Given the description of an element on the screen output the (x, y) to click on. 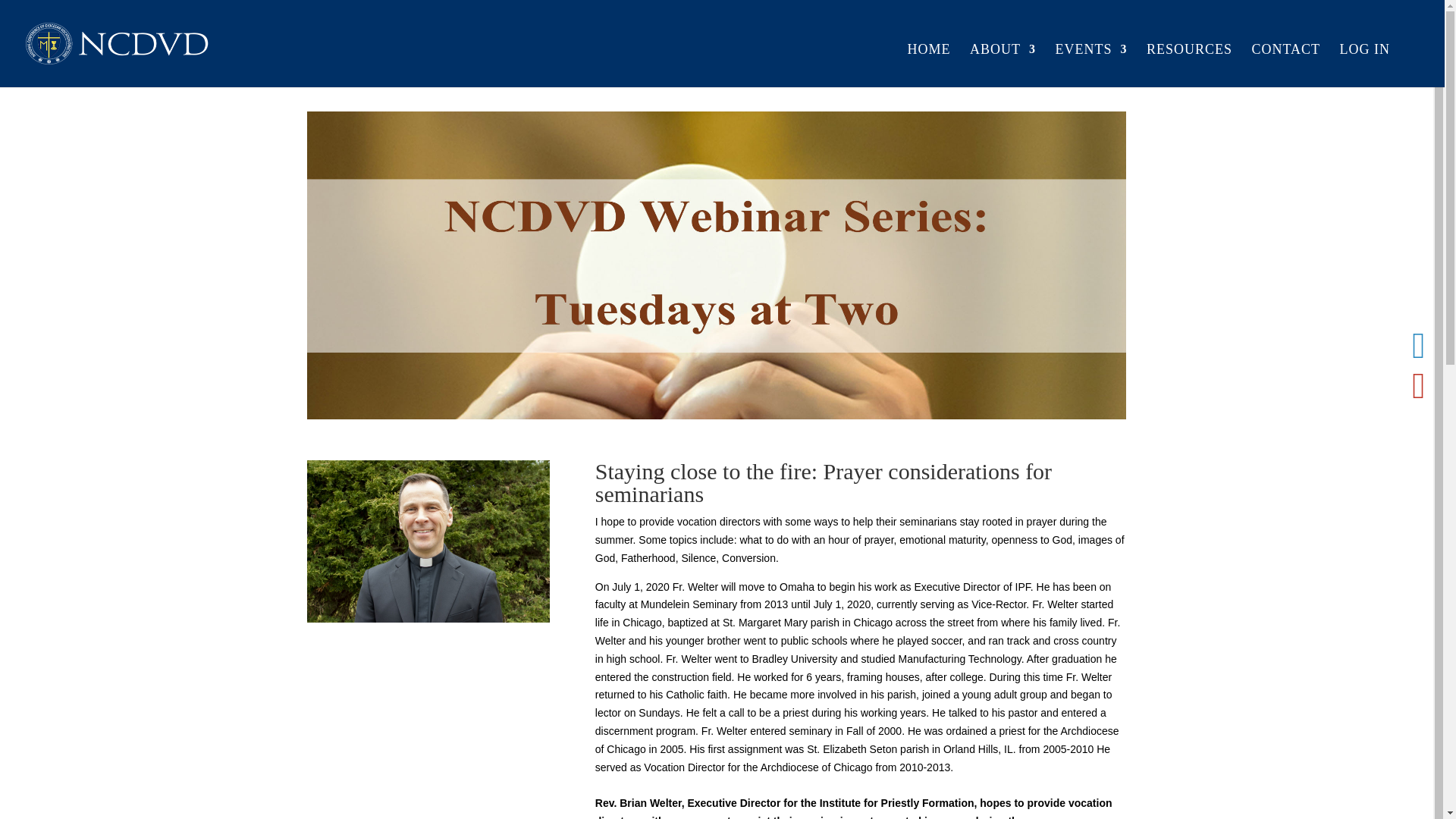
ABOUT (1002, 65)
HOME (928, 65)
EVENTS (1090, 65)
LOG IN (1364, 65)
CONTACT (1285, 65)
RESOURCES (1189, 65)
